Given the description of an element on the screen output the (x, y) to click on. 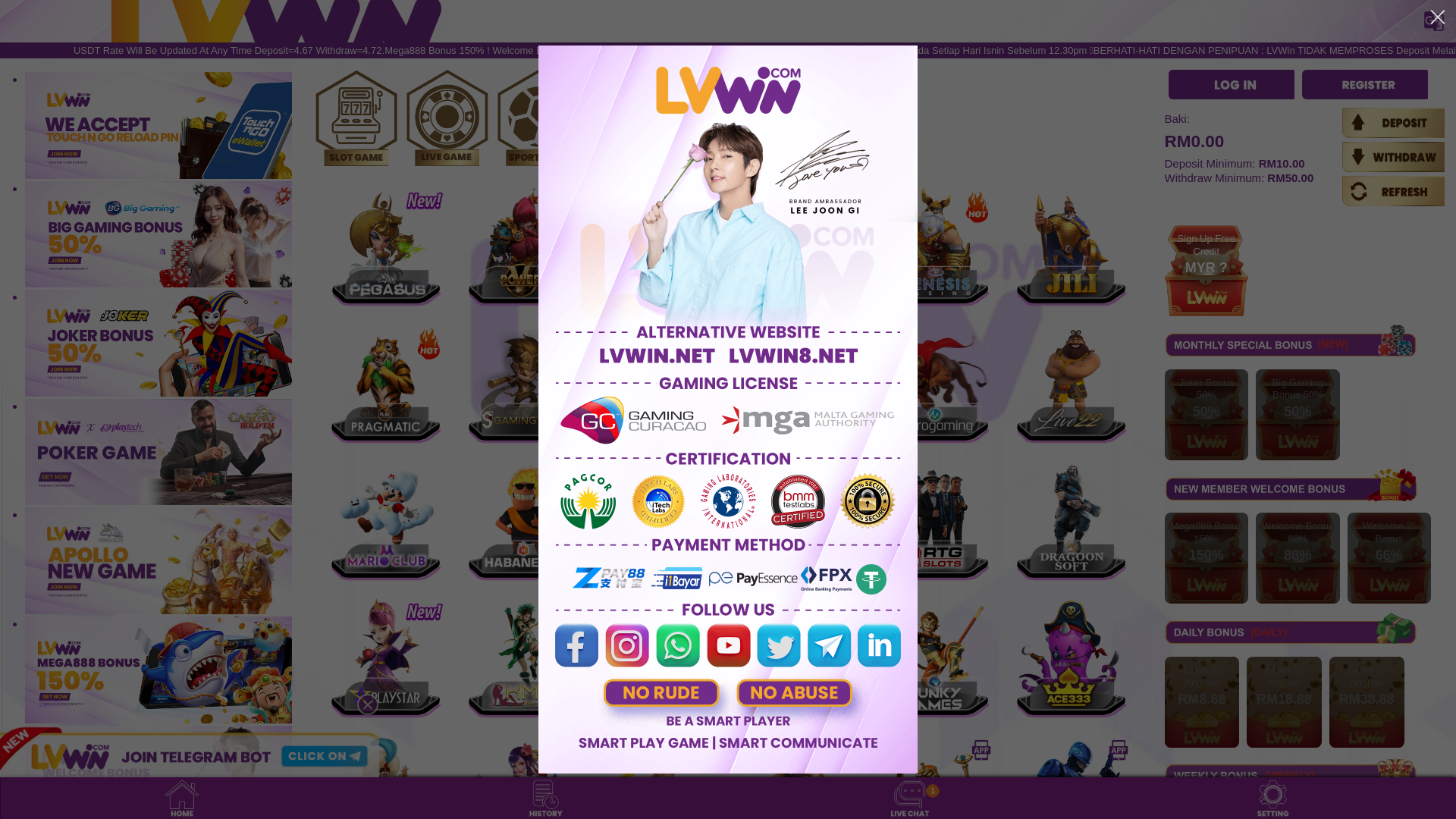
SEGARKAN Element type: text (1393, 190)
CUCI Element type: text (1393, 156)
TOP UP Element type: text (1393, 122)
LOG MASUK Element type: text (1230, 84)
DAFTAR Element type: text (1364, 84)
